Given the description of an element on the screen output the (x, y) to click on. 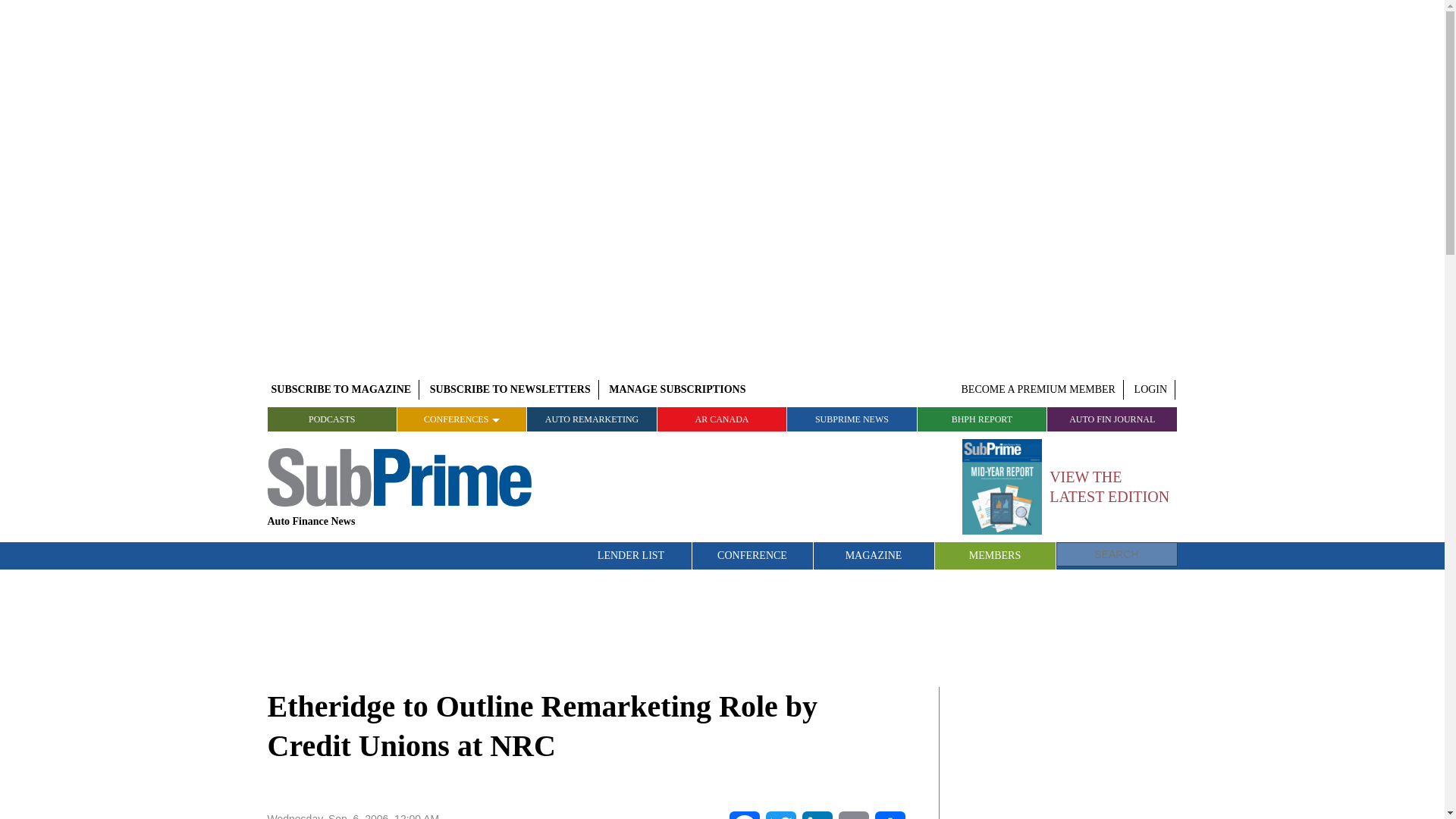
LENDER LIST (630, 555)
LinkedIn (817, 815)
3rd party ad content (1063, 753)
SUBSCRIBE TO NEWSLETTERS (510, 389)
AR CANADA (722, 419)
3rd party ad content (722, 626)
LOGIN (1151, 389)
SUBSCRIBE TO MAGAZINE (340, 389)
MEMBERS (994, 555)
AUTO FIN JOURNAL (1111, 419)
PODCASTS (331, 419)
MANAGE SUBSCRIPTIONS (677, 389)
SUBPRIME NEWS (852, 419)
VIEW THE LATEST EDITION (1069, 486)
CONFERENCE (751, 555)
